Given the description of an element on the screen output the (x, y) to click on. 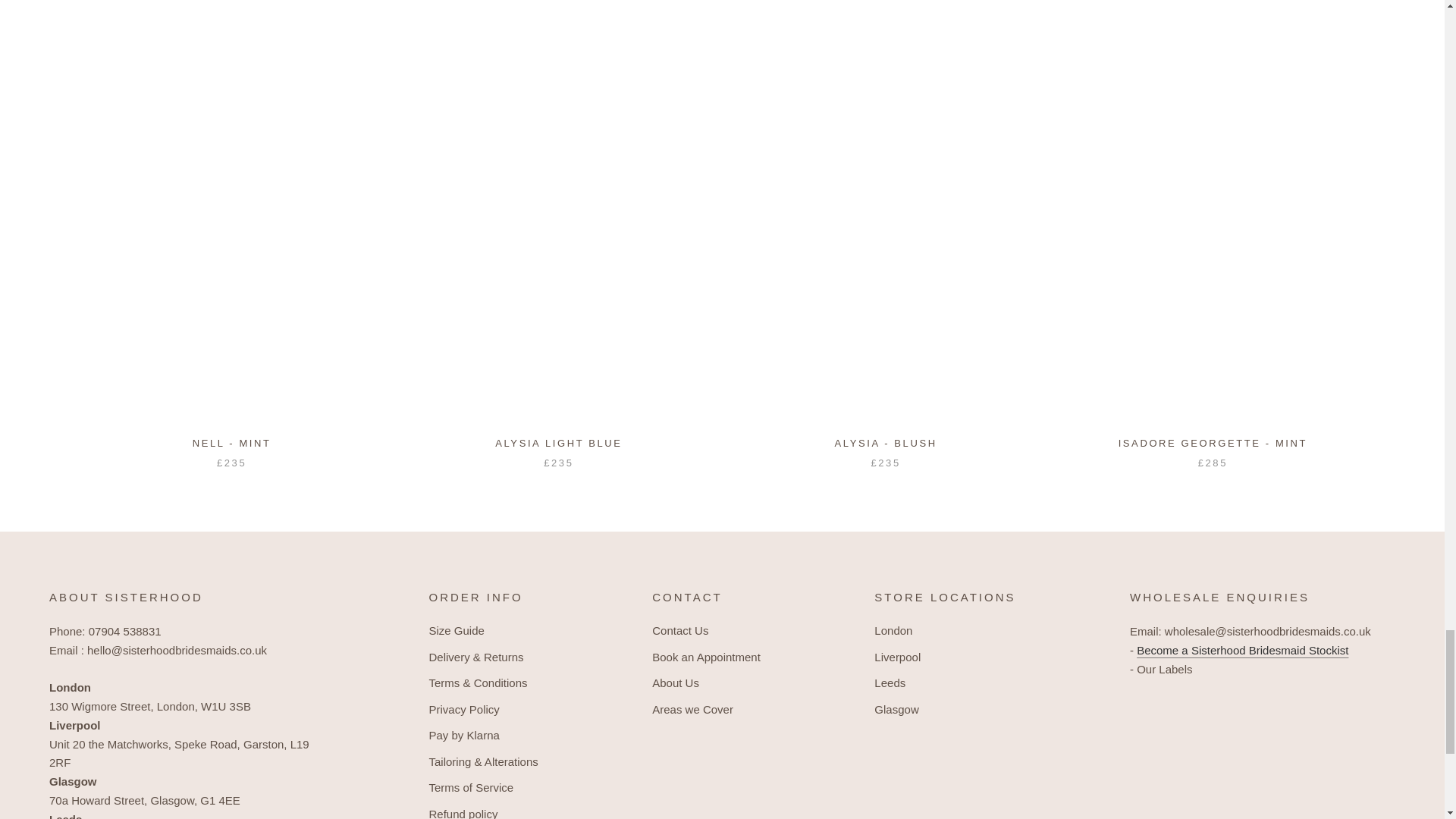
Wholesale (1242, 649)
